Given the description of an element on the screen output the (x, y) to click on. 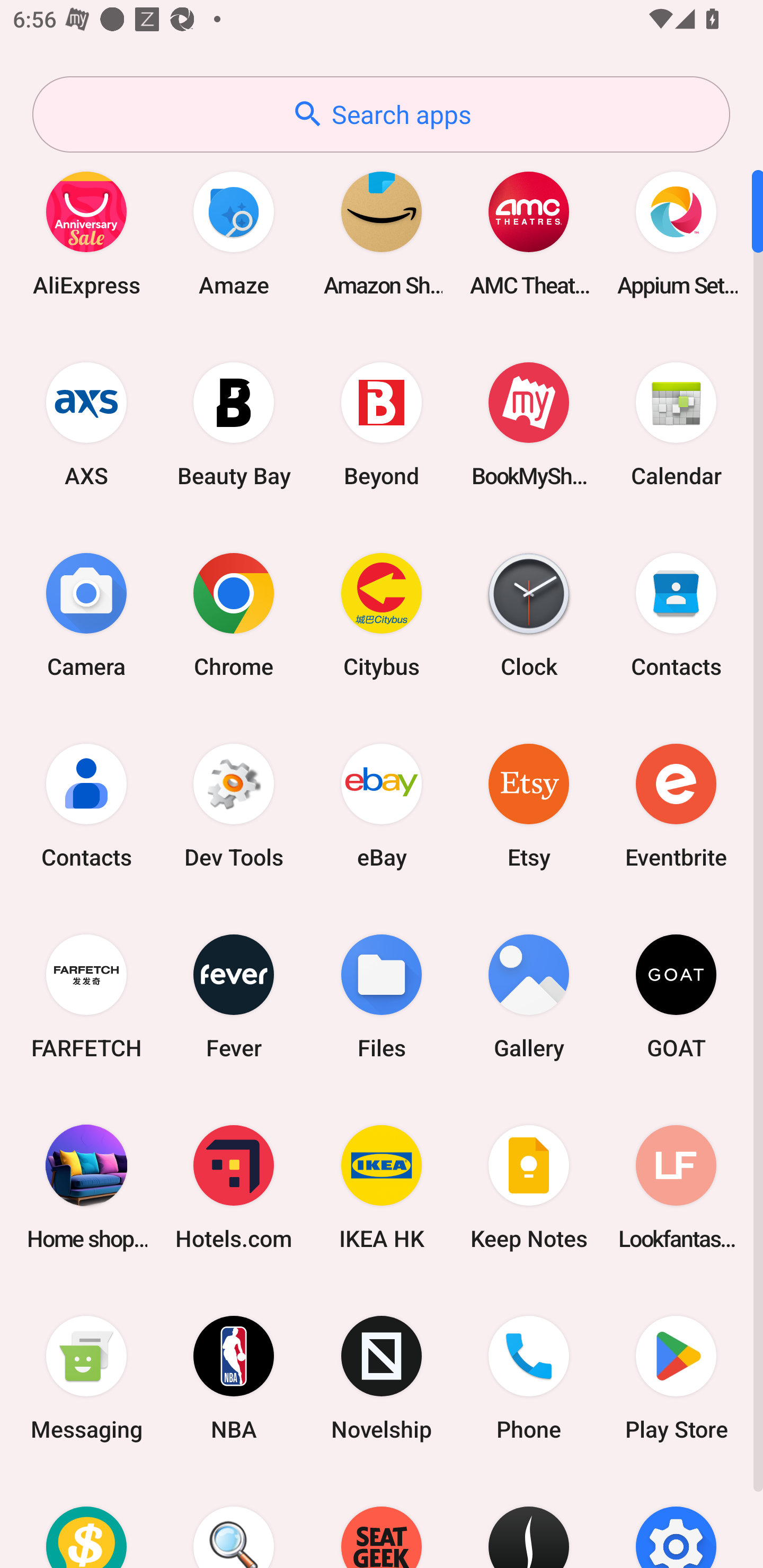
  Search apps (381, 114)
AliExpress (86, 233)
Amaze (233, 233)
Amazon Shopping (381, 233)
AMC Theatres (528, 233)
Appium Settings (676, 233)
AXS (86, 424)
Beauty Bay (233, 424)
Beyond (381, 424)
BookMyShow (528, 424)
Calendar (676, 424)
Camera (86, 614)
Chrome (233, 614)
Citybus (381, 614)
Clock (528, 614)
Contacts (676, 614)
Contacts (86, 805)
Dev Tools (233, 805)
eBay (381, 805)
Etsy (528, 805)
Eventbrite (676, 805)
FARFETCH (86, 996)
Fever (233, 996)
Files (381, 996)
Gallery (528, 996)
GOAT (676, 996)
Home shopping (86, 1186)
Hotels.com (233, 1186)
IKEA HK (381, 1186)
Keep Notes (528, 1186)
Lookfantastic (676, 1186)
Messaging (86, 1377)
NBA (233, 1377)
Novelship (381, 1377)
Phone (528, 1377)
Play Store (676, 1377)
